Given the description of an element on the screen output the (x, y) to click on. 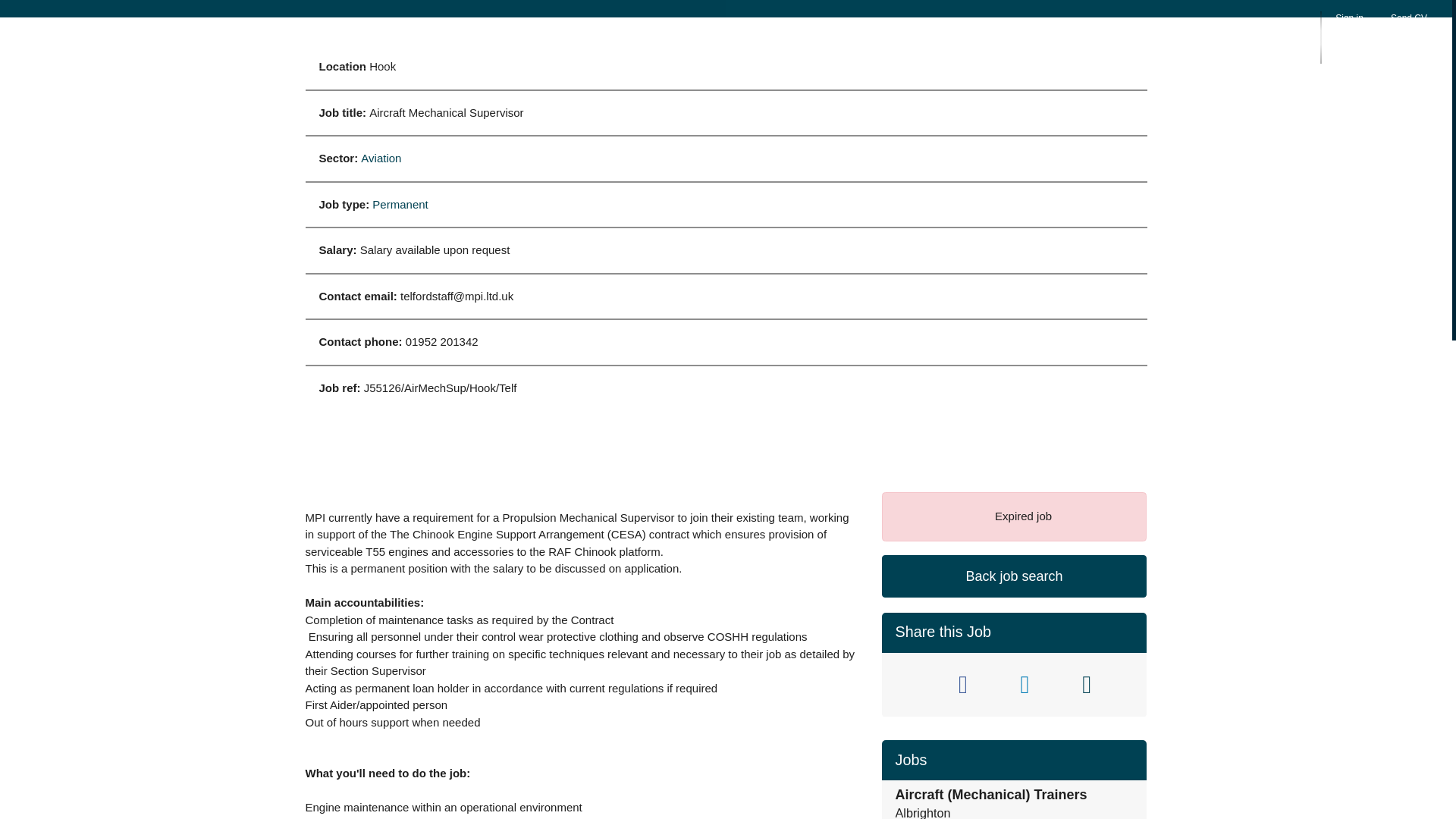
About (776, 33)
Contact (1182, 33)
Send CV (1408, 27)
Service sectors (866, 33)
Jobs (951, 33)
Sustainability (1032, 33)
News (1114, 33)
Twitter (905, 684)
Accessibility (1268, 33)
